Given the description of an element on the screen output the (x, y) to click on. 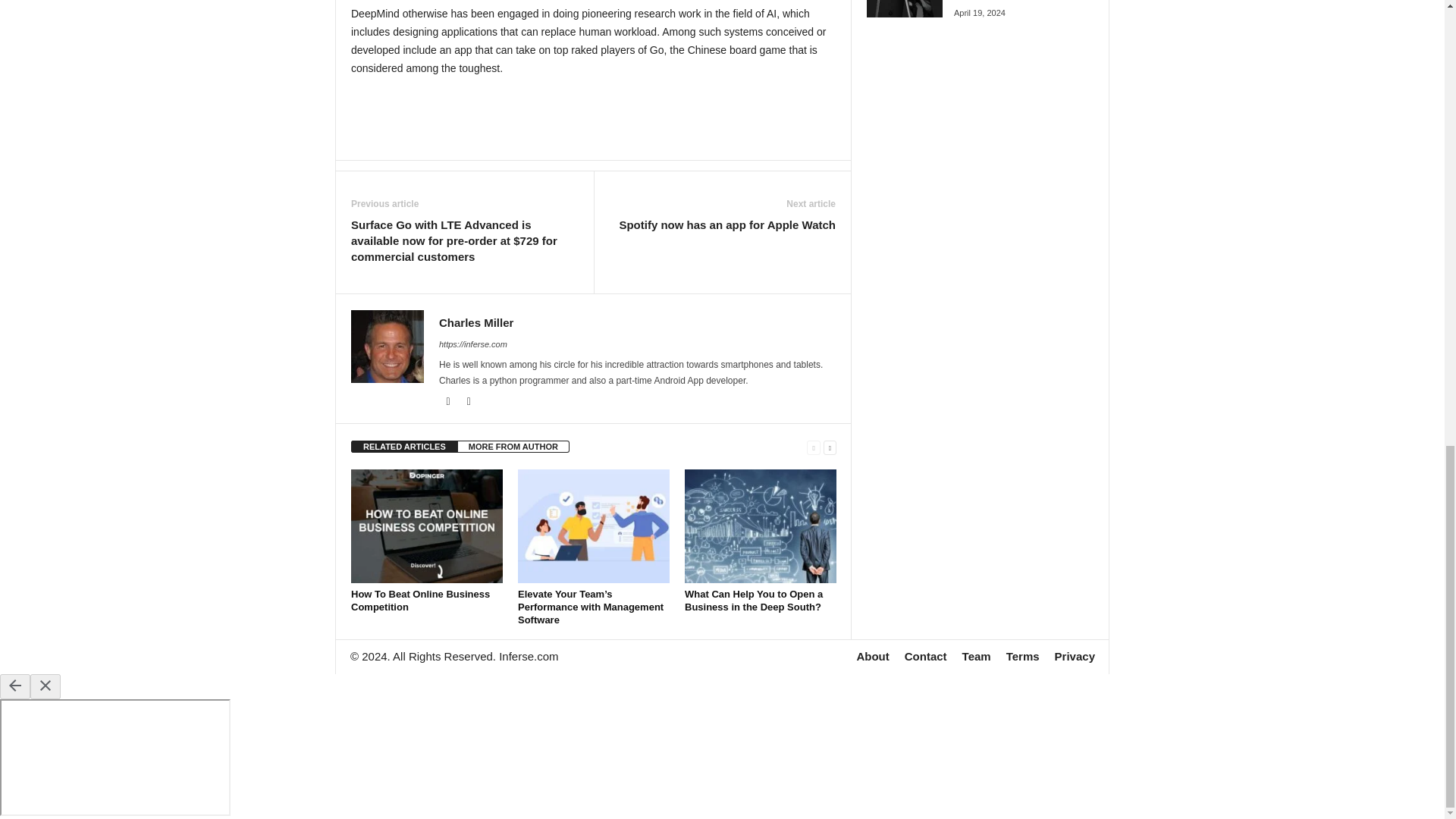
How To Beat Online Business Competition (419, 600)
How To Beat Online Business Competition (426, 526)
How To Beat Online Business Competition (419, 600)
Advertisement (593, 117)
Spotify now has an app for Apple Watch (726, 224)
Twitter (468, 401)
Facebook (449, 401)
Charles Miller (476, 322)
MORE FROM AUTHOR (513, 446)
RELATED ARTICLES (404, 446)
